Given the description of an element on the screen output the (x, y) to click on. 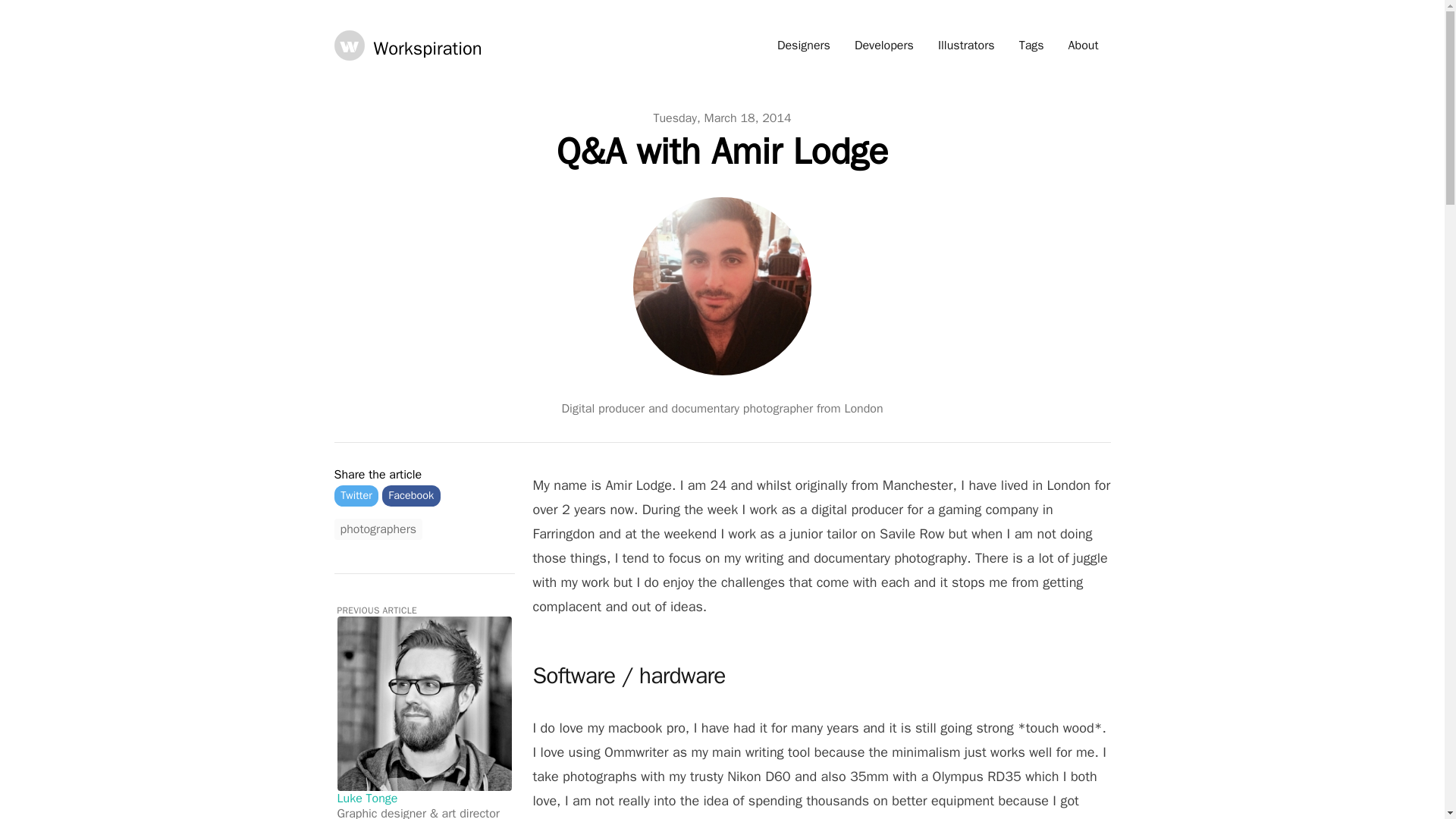
Developers (884, 45)
Workspiration (407, 45)
Twitter (355, 495)
Illustrators (966, 45)
photographers (377, 528)
Tags (1032, 45)
Luke Tonge (366, 798)
Designers (804, 45)
Facebook (411, 495)
About (1083, 45)
